Given the description of an element on the screen output the (x, y) to click on. 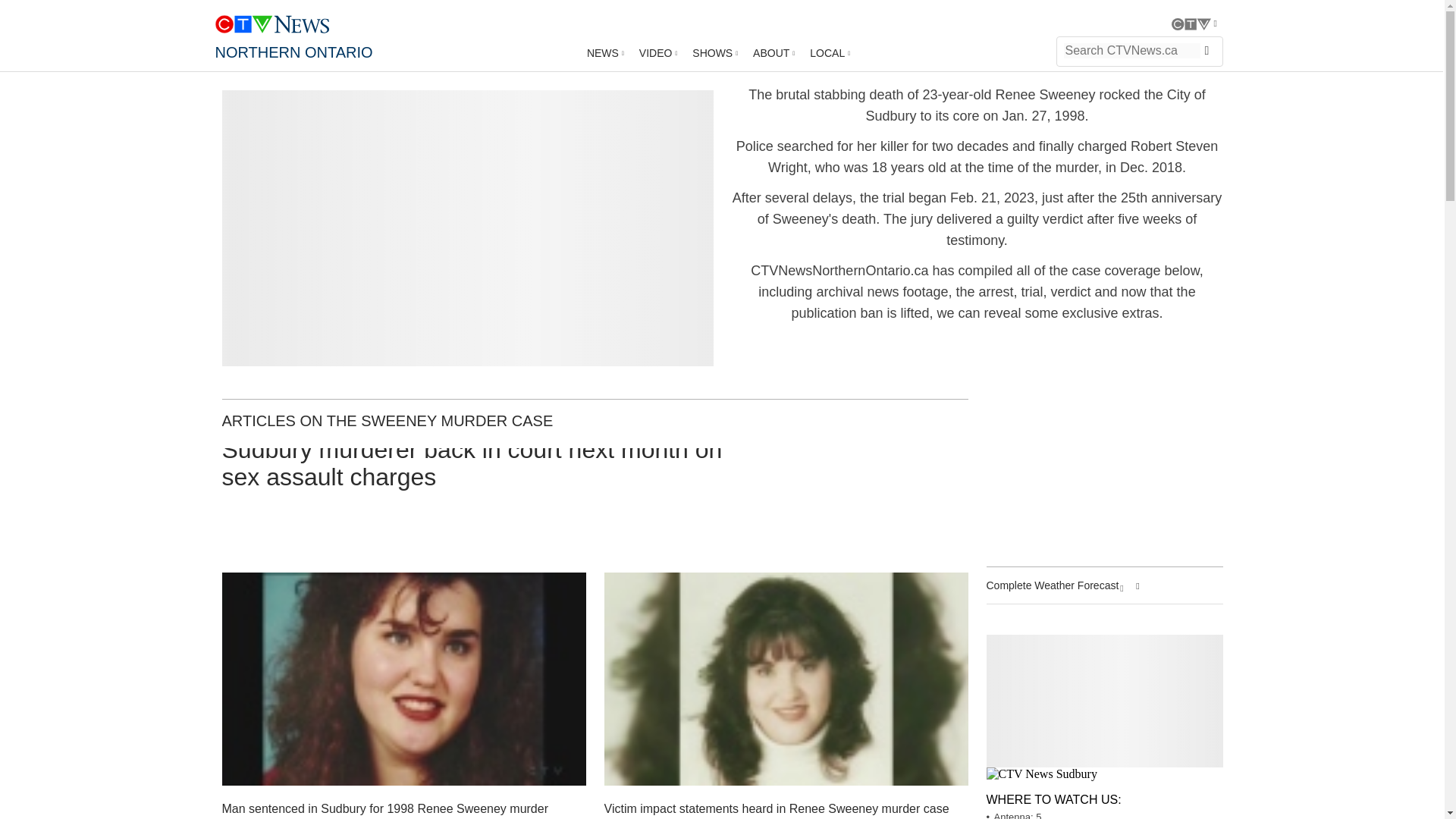
SHOWS (714, 52)
NEWS (605, 52)
Skip to main content (781, 24)
CTVNews.ca (272, 16)
NORTHERN ONTARIO (293, 52)
VIDEO (658, 52)
